Given the description of an element on the screen output the (x, y) to click on. 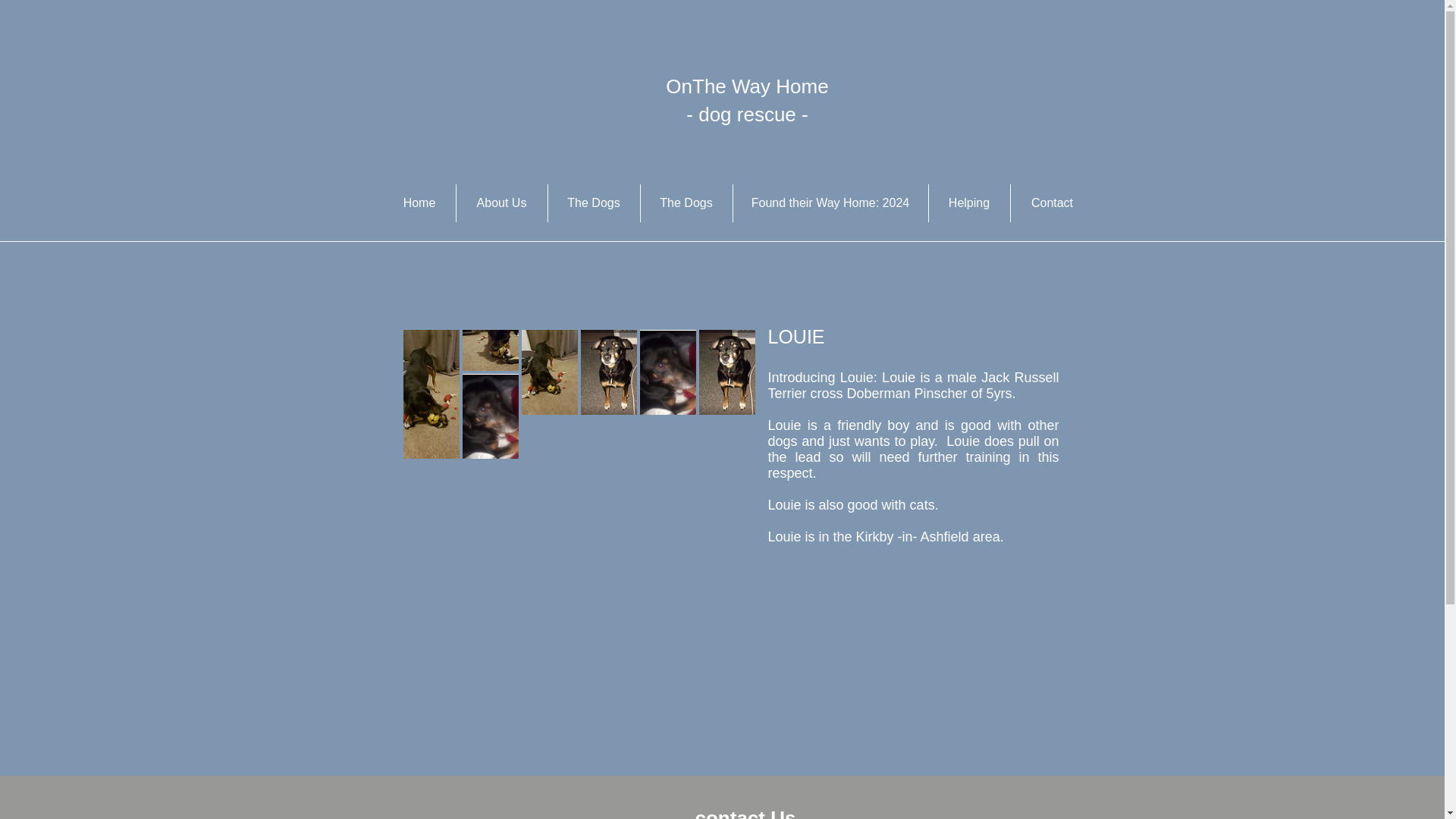
The Dogs (593, 202)
- dog rescue - (746, 114)
OnThe Way Home (746, 86)
About Us (502, 202)
The Dogs (686, 202)
Home (419, 202)
